Given the description of an element on the screen output the (x, y) to click on. 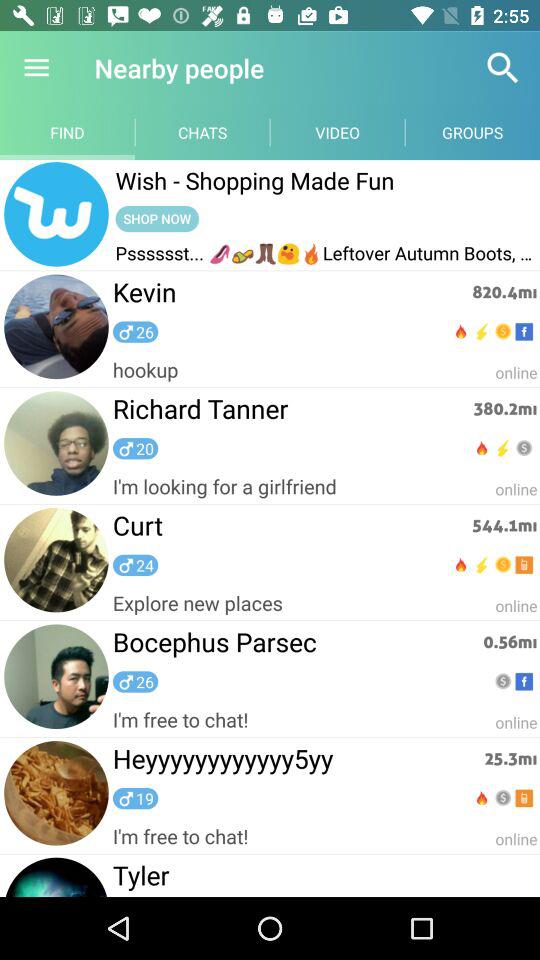
advertisement icon for wish (56, 215)
